Given the description of an element on the screen output the (x, y) to click on. 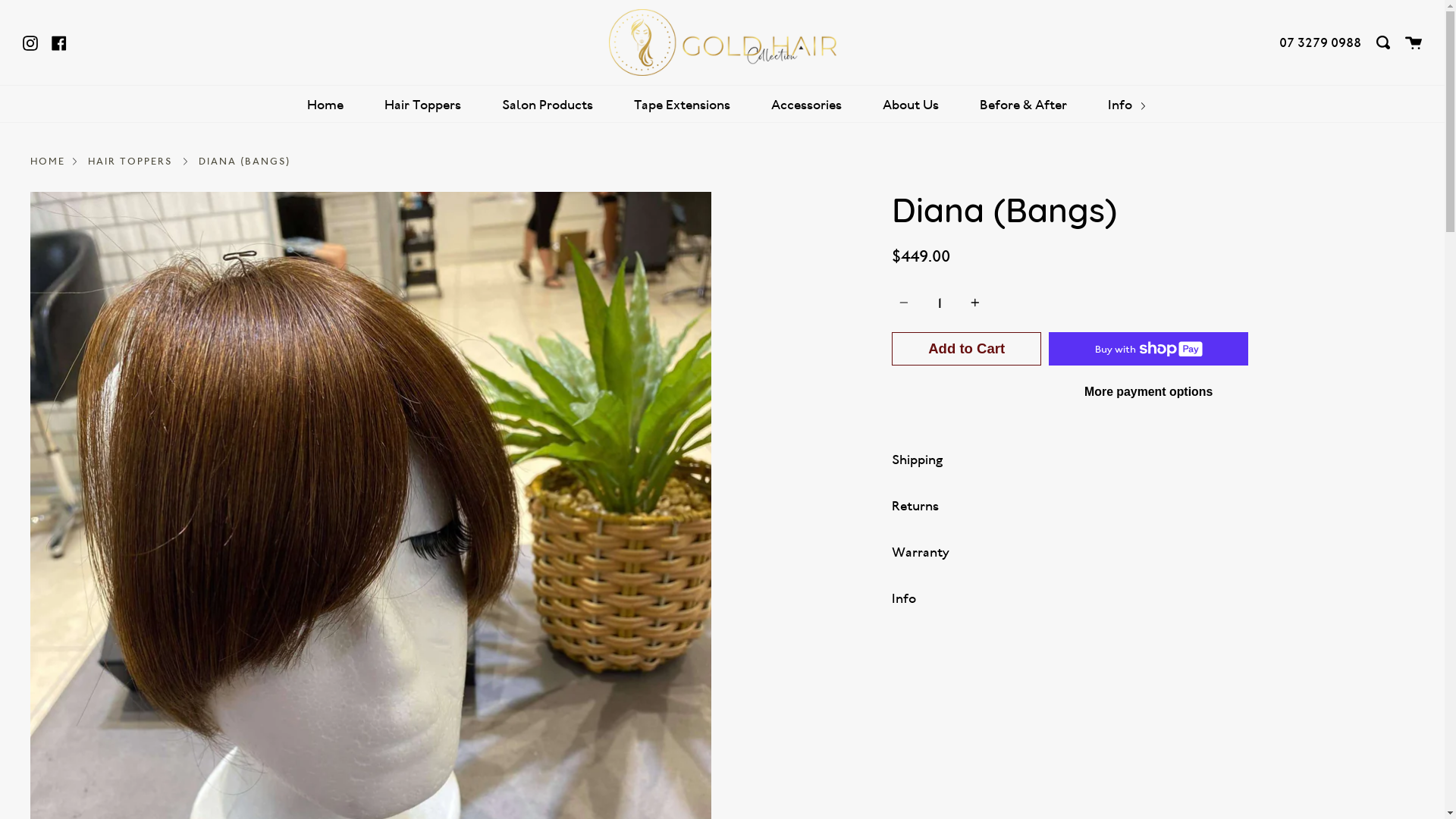
Info Element type: text (1126, 104)
More payment options Element type: text (1148, 391)
Home Element type: text (325, 104)
07 3279 0988 Element type: text (1320, 42)
DIANA (BANGS) Element type: text (244, 160)
HAIR TOPPERS Element type: text (129, 160)
Search Element type: text (1383, 42)
Before & After Element type: text (1022, 104)
Tape Extensions Element type: text (682, 104)
Hair Toppers Element type: text (422, 104)
Salon Products Element type: text (547, 104)
Cart Element type: text (1413, 42)
Instagram Element type: text (29, 41)
About Us Element type: text (910, 104)
Add to Cart Element type: text (966, 348)
Facebook Element type: text (58, 41)
HOME Element type: text (47, 160)
Accessories Element type: text (806, 104)
